Given the description of an element on the screen output the (x, y) to click on. 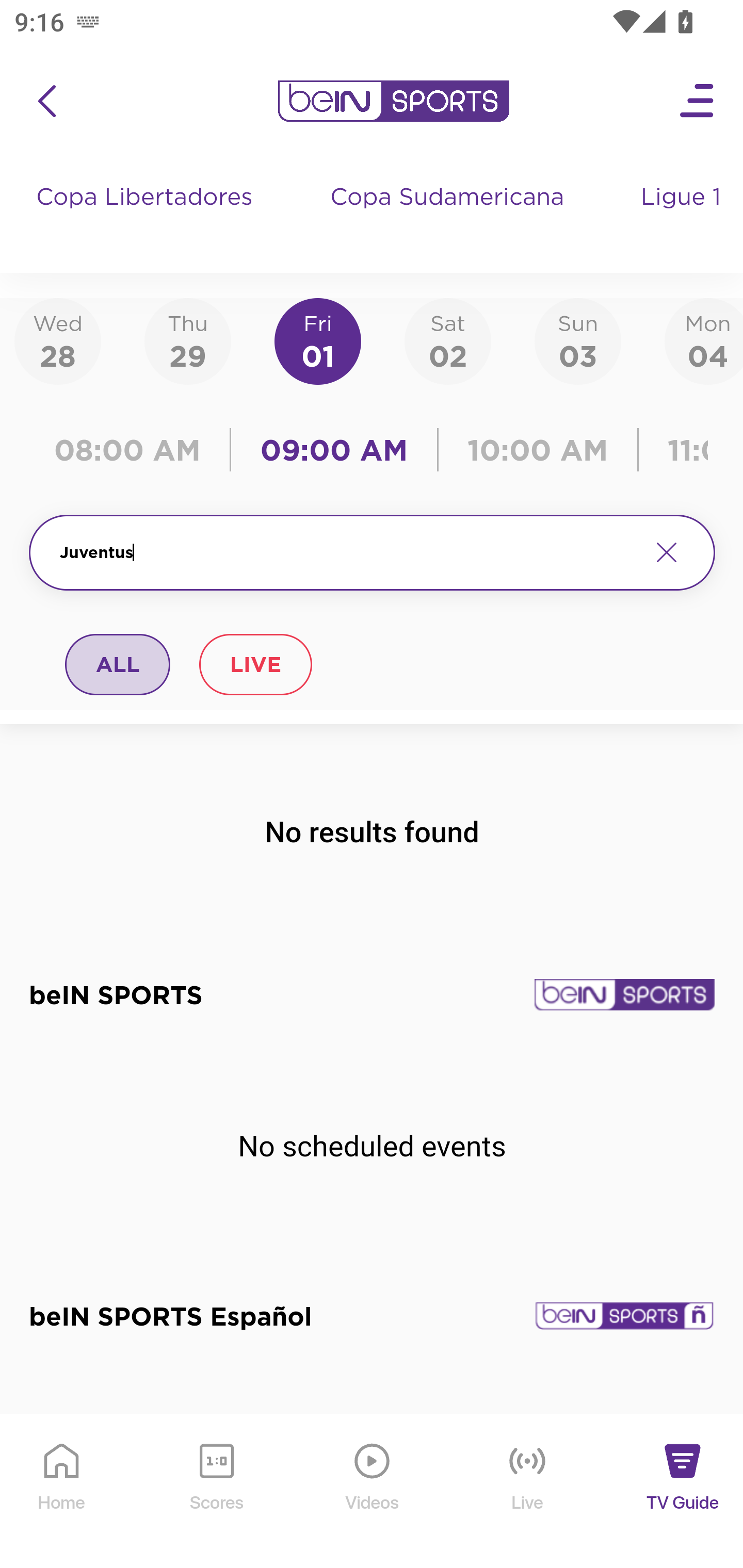
en-us?platform=mobile_android bein logo (392, 101)
icon back (46, 101)
Open Menu Icon (697, 101)
Copa Libertadores (146, 216)
Copa Sudamericana (448, 216)
Ligue 1 (682, 216)
Wed28 (58, 340)
Thu29 (187, 340)
Fri01 (318, 340)
Sat02 (447, 340)
Sun03 (578, 340)
Mon04 (703, 340)
08:00 AM (134, 449)
09:00 AM (334, 449)
10:00 AM (537, 449)
Juventus (346, 552)
ALL (118, 663)
LIVE (255, 663)
Home Home Icon Home (61, 1491)
Scores Scores Icon Scores (216, 1491)
Videos Videos Icon Videos (372, 1491)
TV Guide TV Guide Icon TV Guide (682, 1491)
